Given the description of an element on the screen output the (x, y) to click on. 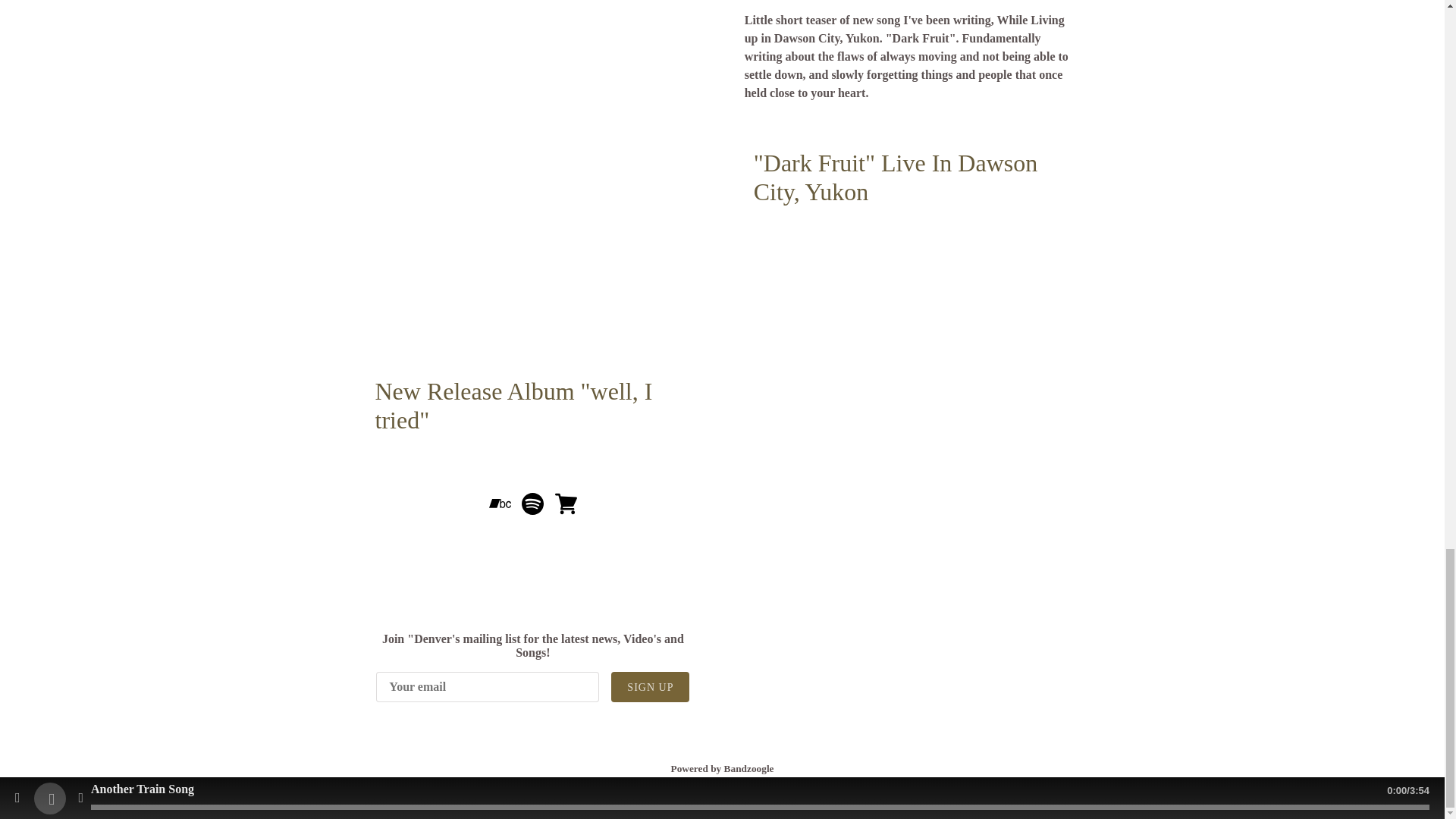
SIGN UP (649, 686)
Powered by Bandzoogle (721, 767)
Powered by Bandzoogle (721, 767)
